Given the description of an element on the screen output the (x, y) to click on. 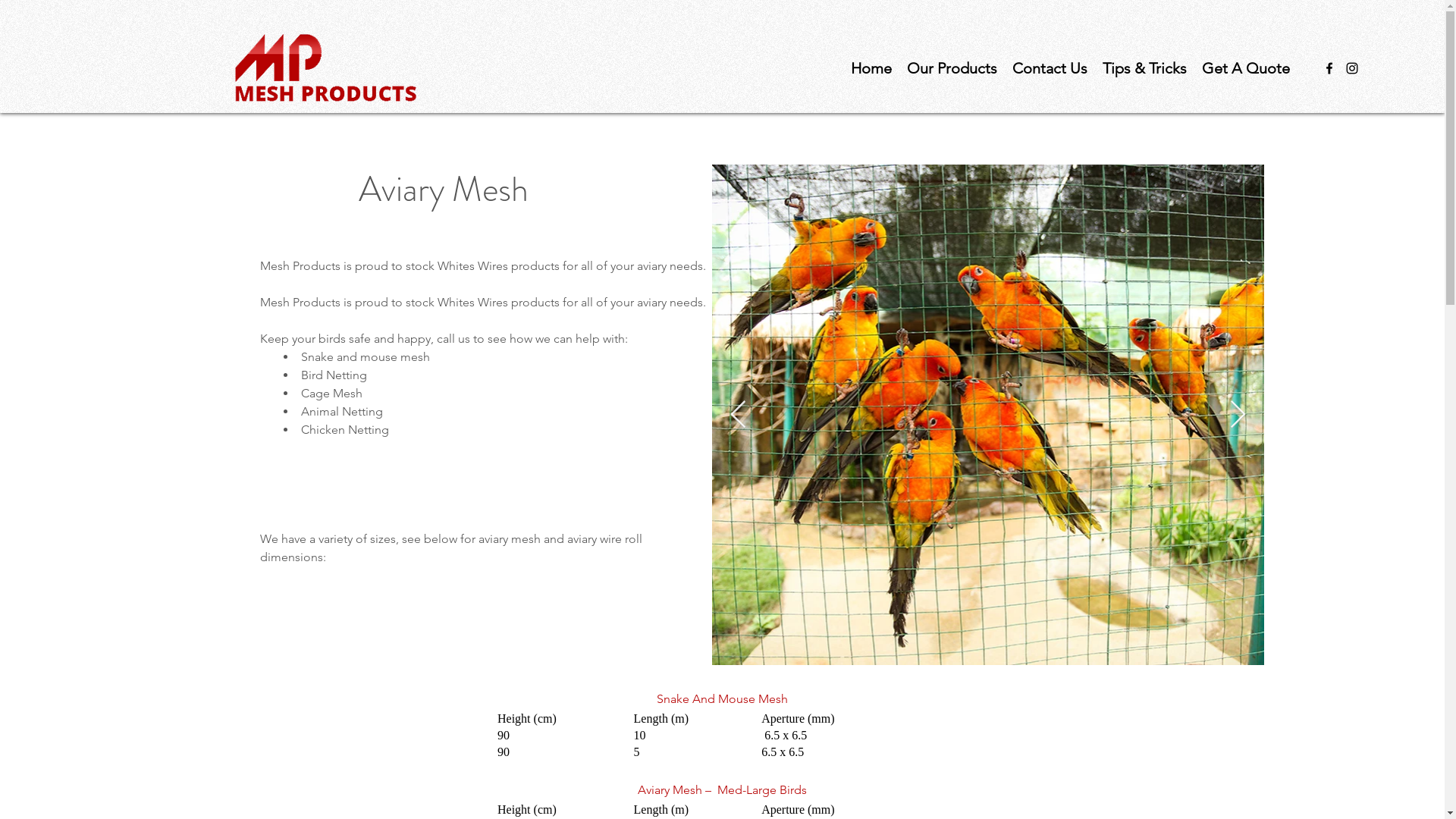
Get A Quote Element type: text (1244, 68)
Our Products Element type: text (951, 68)
Contact Us Element type: text (1049, 68)
remote content Element type: hover (721, 735)
Home Element type: text (871, 68)
Tips & Tricks Element type: text (1144, 68)
